Given the description of an element on the screen output the (x, y) to click on. 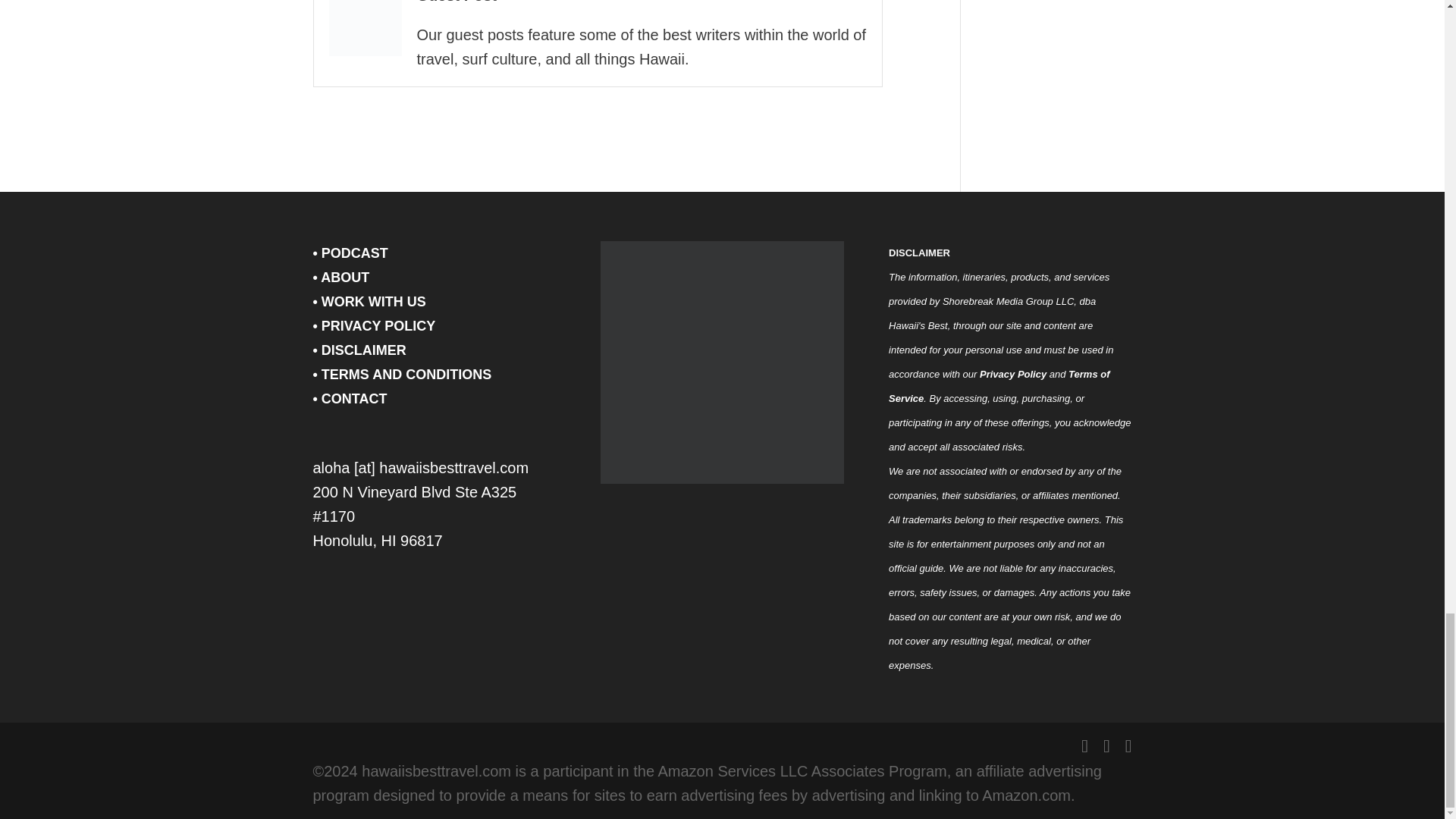
May Day is Lei Day in Hawaii 3 (365, 28)
